Given the description of an element on the screen output the (x, y) to click on. 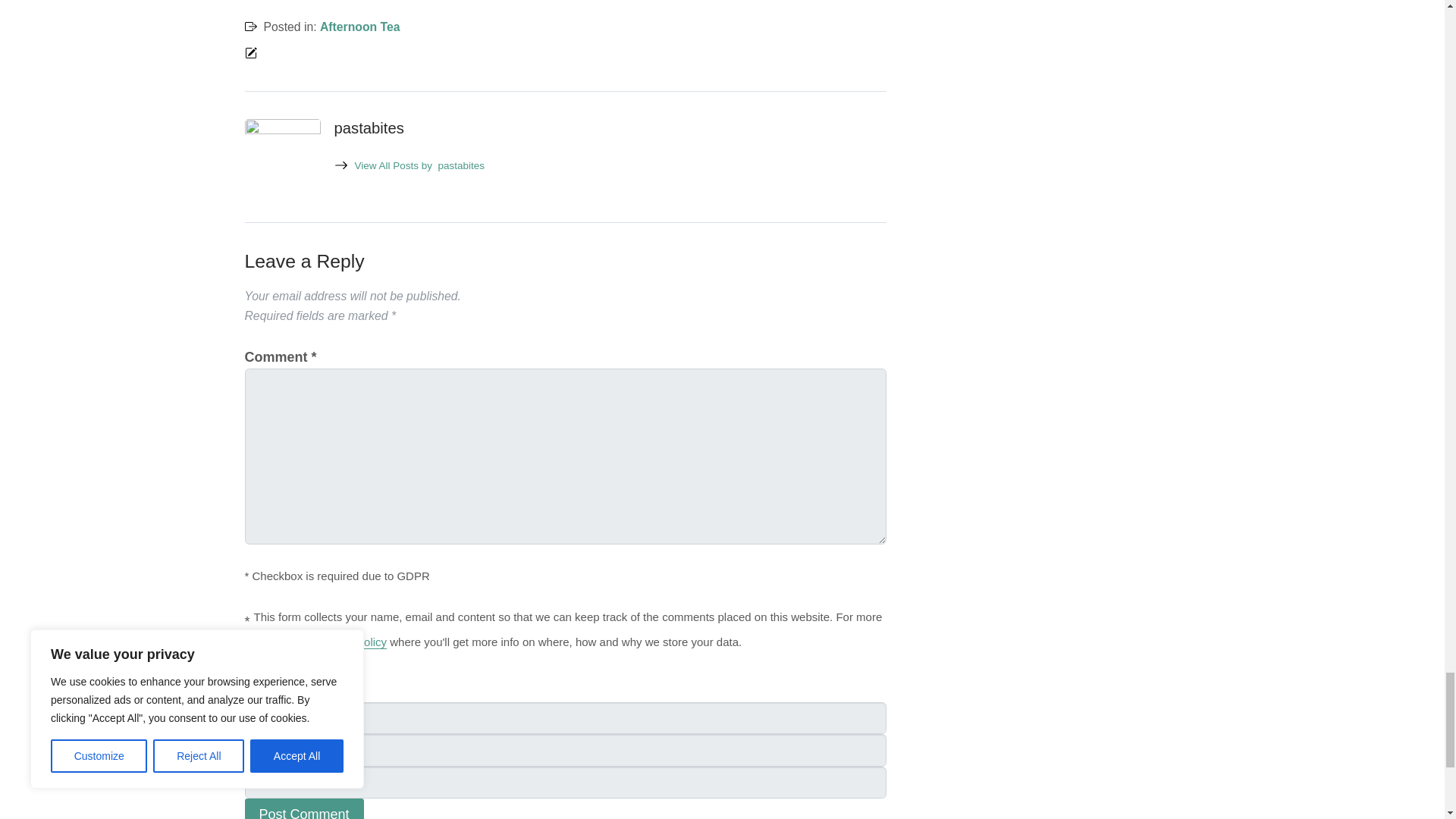
on (248, 669)
Post Comment (303, 808)
